Given the description of an element on the screen output the (x, y) to click on. 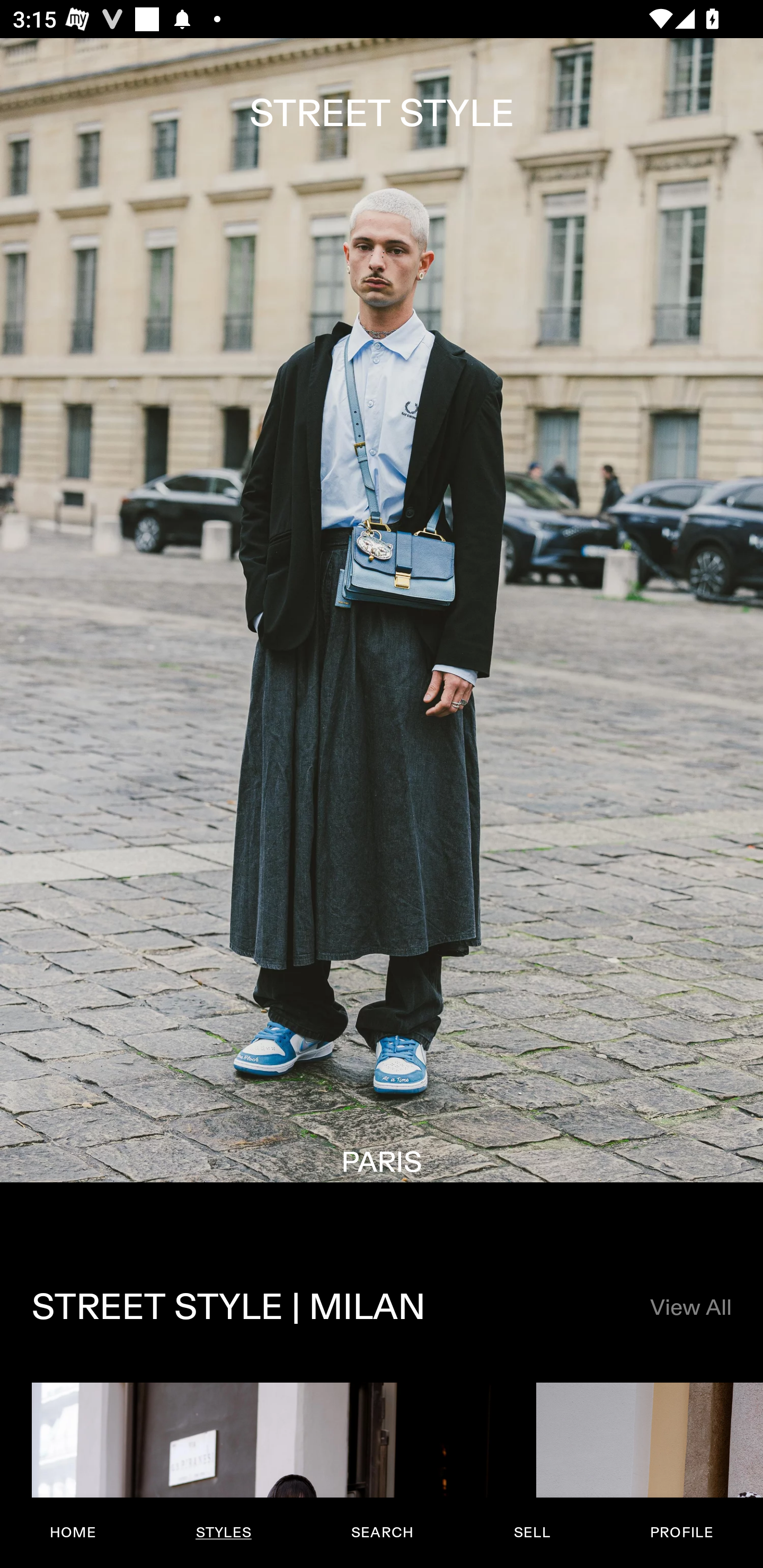
View All (690, 1308)
HOME (72, 1532)
STYLES (222, 1532)
SEARCH (381, 1532)
SELL (531, 1532)
PROFILE (681, 1532)
